Given the description of an element on the screen output the (x, y) to click on. 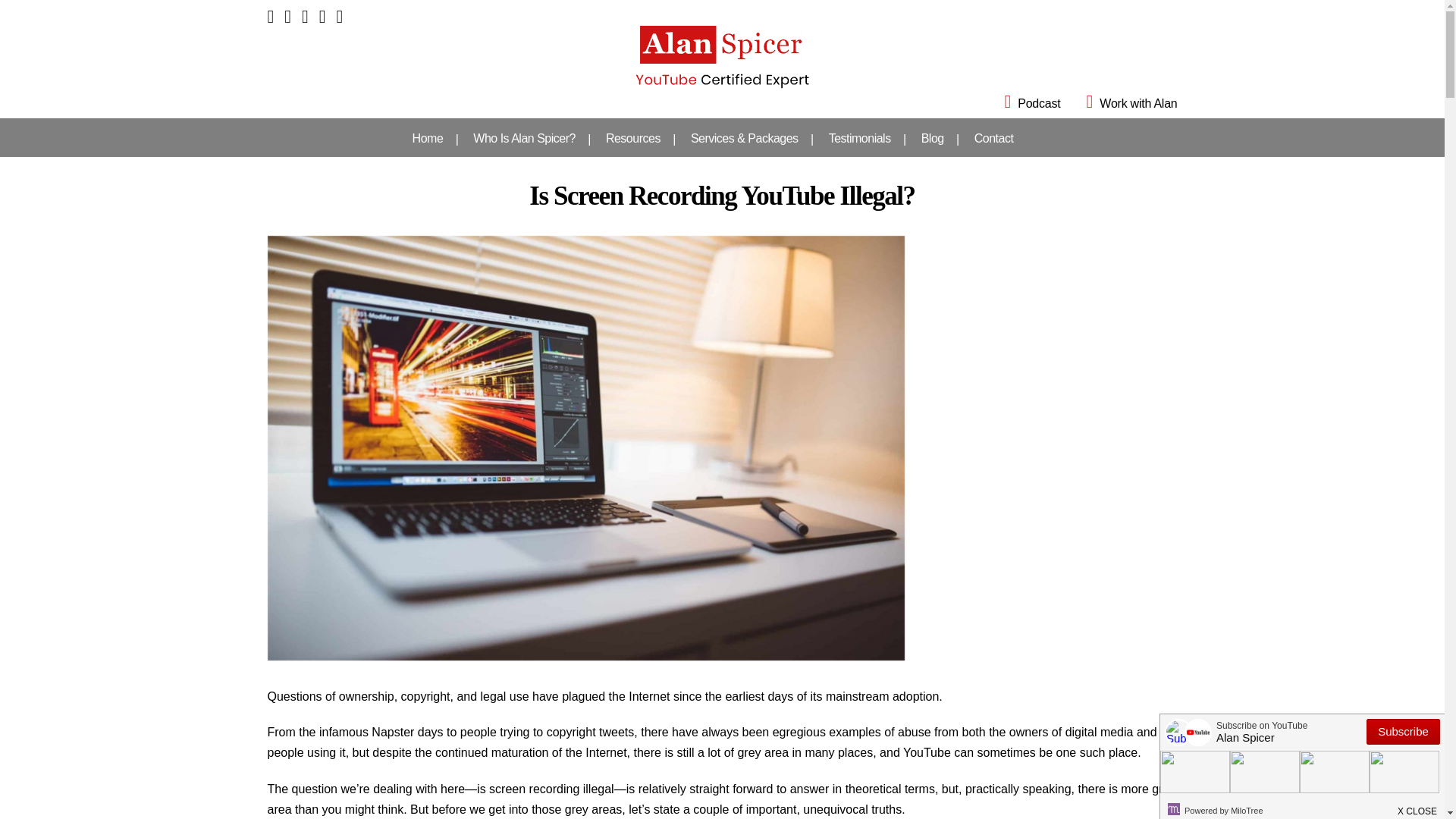
Blog (932, 138)
Home (427, 138)
Podcast (1021, 103)
Testimonials (859, 138)
Work with Alan (1120, 103)
Resources (633, 138)
Who Is Alan Spicer? (524, 138)
Contact (994, 138)
